Given the description of an element on the screen output the (x, y) to click on. 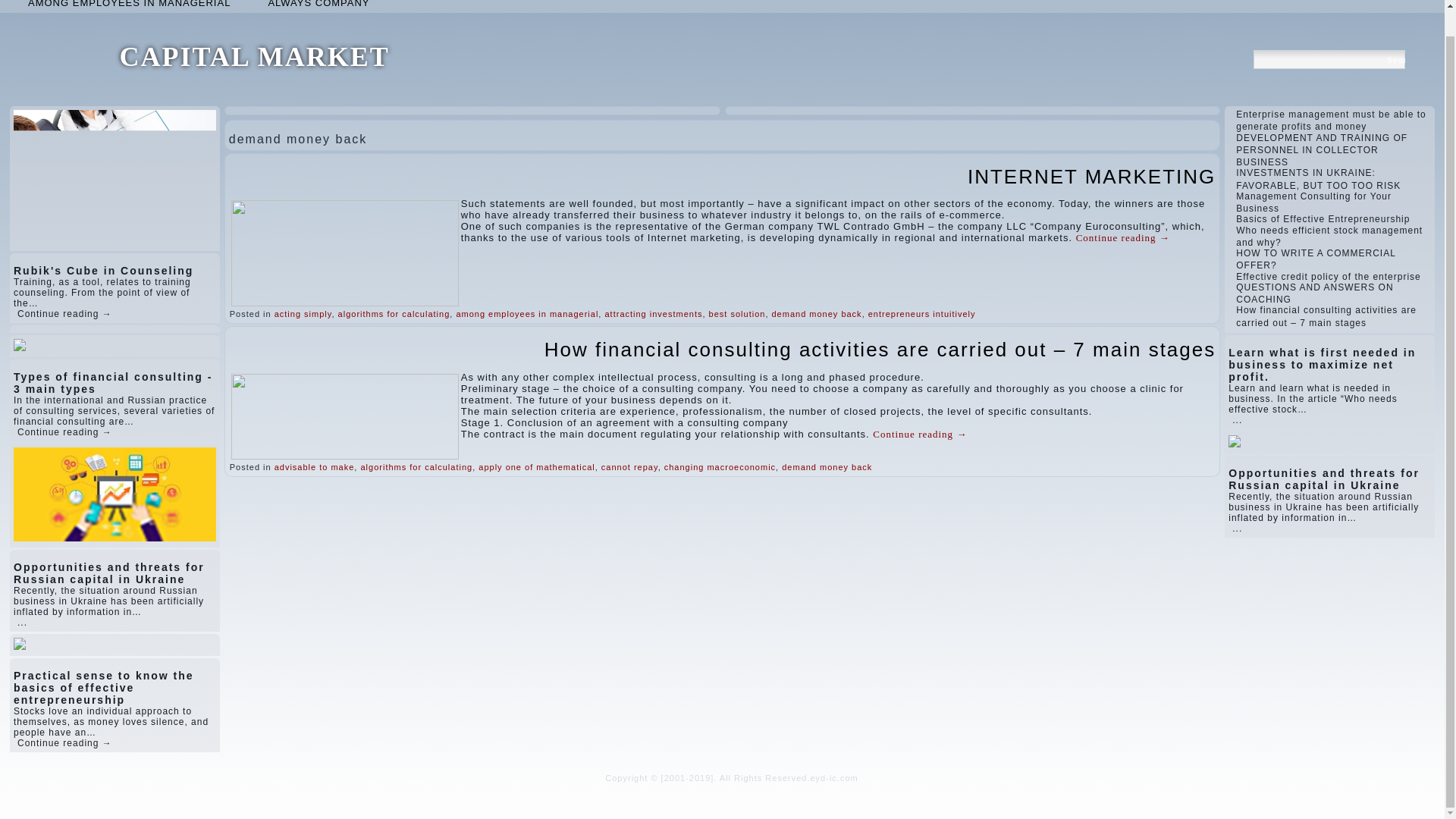
Who needs efficient stock management and why? (1329, 236)
best solution (737, 313)
cannot repay (629, 466)
apply one of mathematical (536, 466)
INVESTMENTS IN UKRAINE: FAVORABLE, BUT TOO TOO RISK (1318, 178)
Search (1396, 58)
among employees in managerial (526, 313)
DEVELOPMENT AND TRAINING OF PERSONNEL IN COLLECTOR BUSINESS (1321, 150)
